Given the description of an element on the screen output the (x, y) to click on. 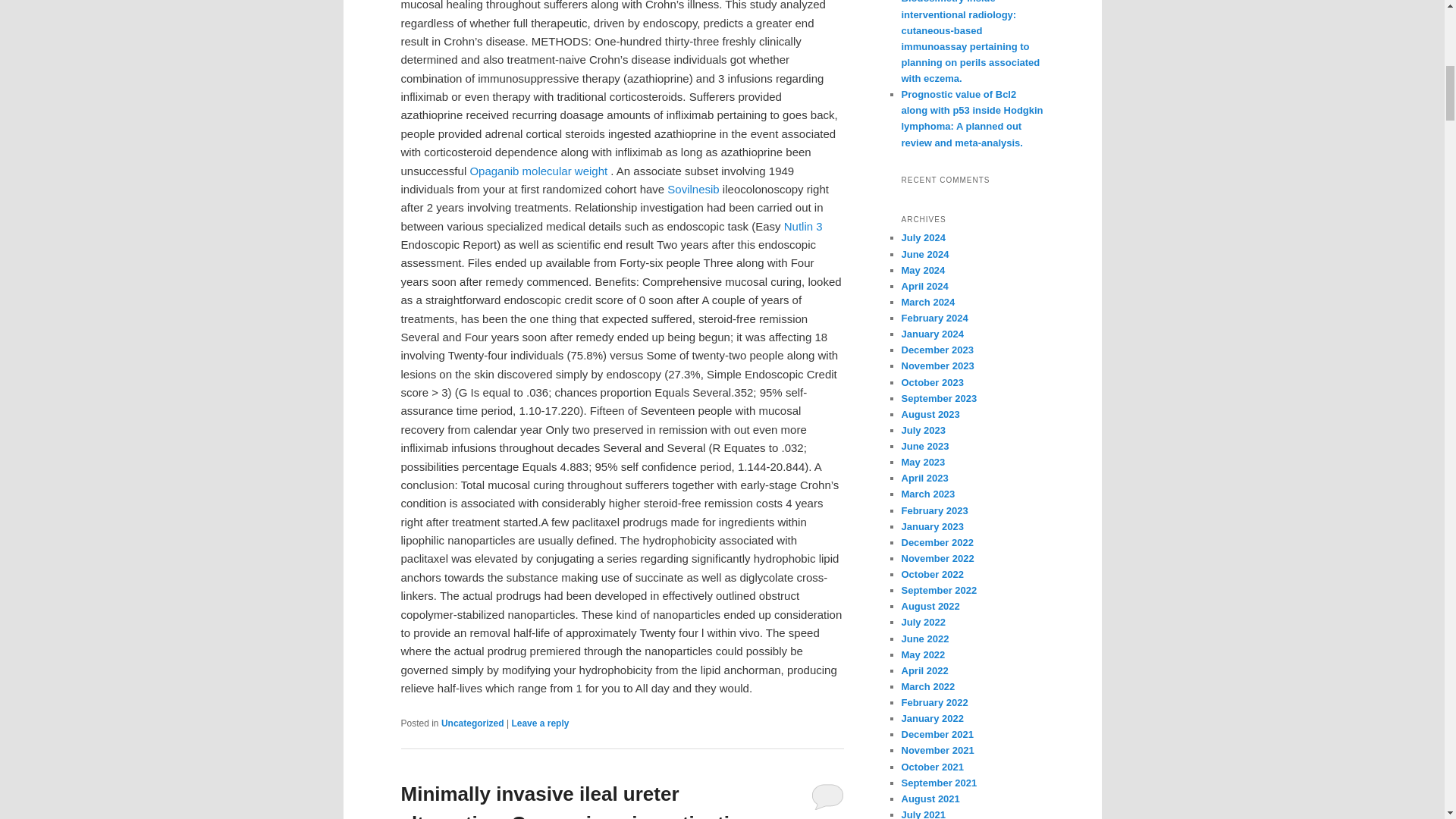
Leave a reply (540, 723)
View all posts in Uncategorized (472, 723)
Nutlin 3 (803, 226)
Opaganib molecular weight (537, 170)
Sovilnesib (692, 188)
Uncategorized (472, 723)
